Given the description of an element on the screen output the (x, y) to click on. 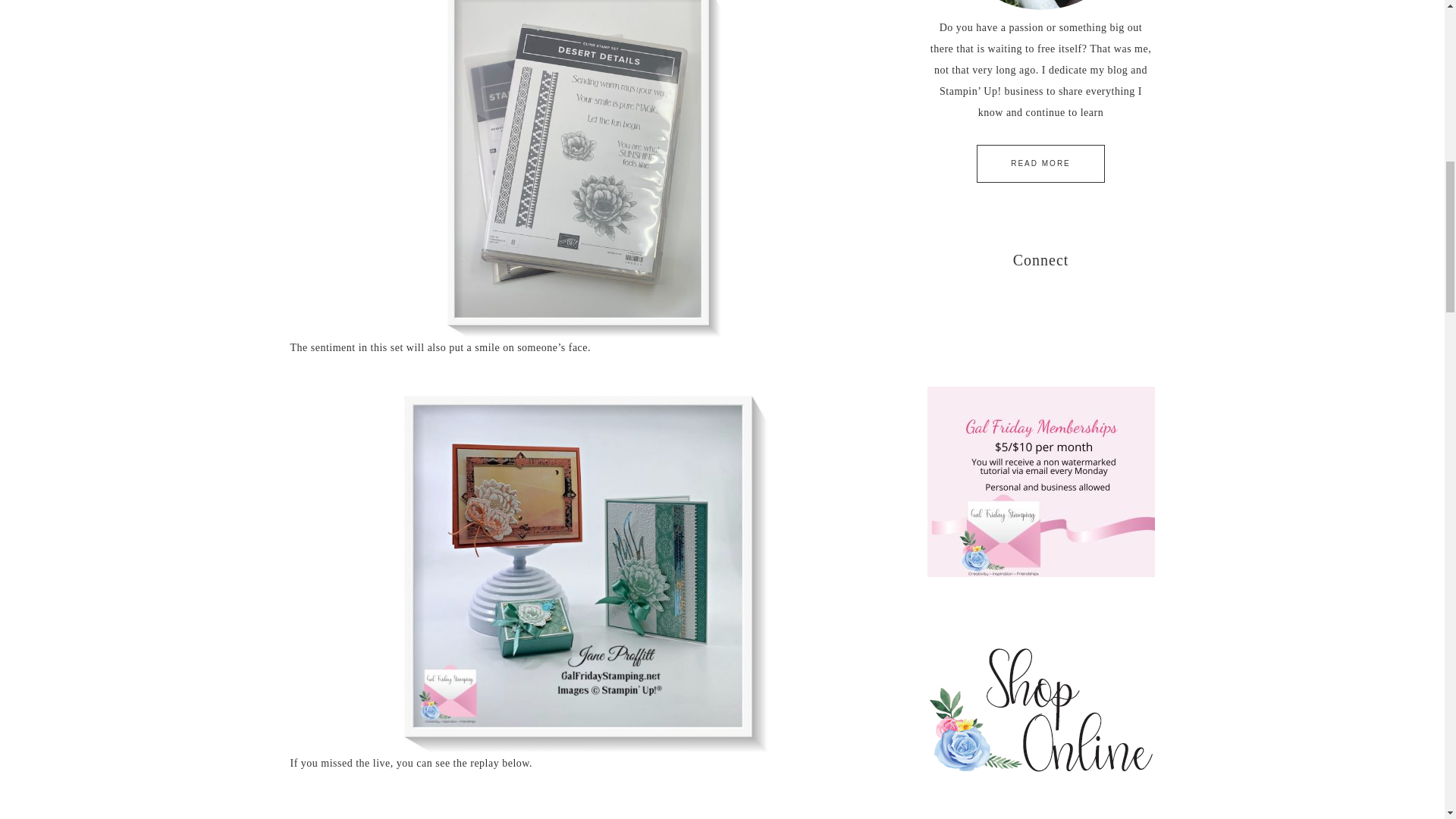
Desert Details Coming in January (577, 807)
